Given the description of an element on the screen output the (x, y) to click on. 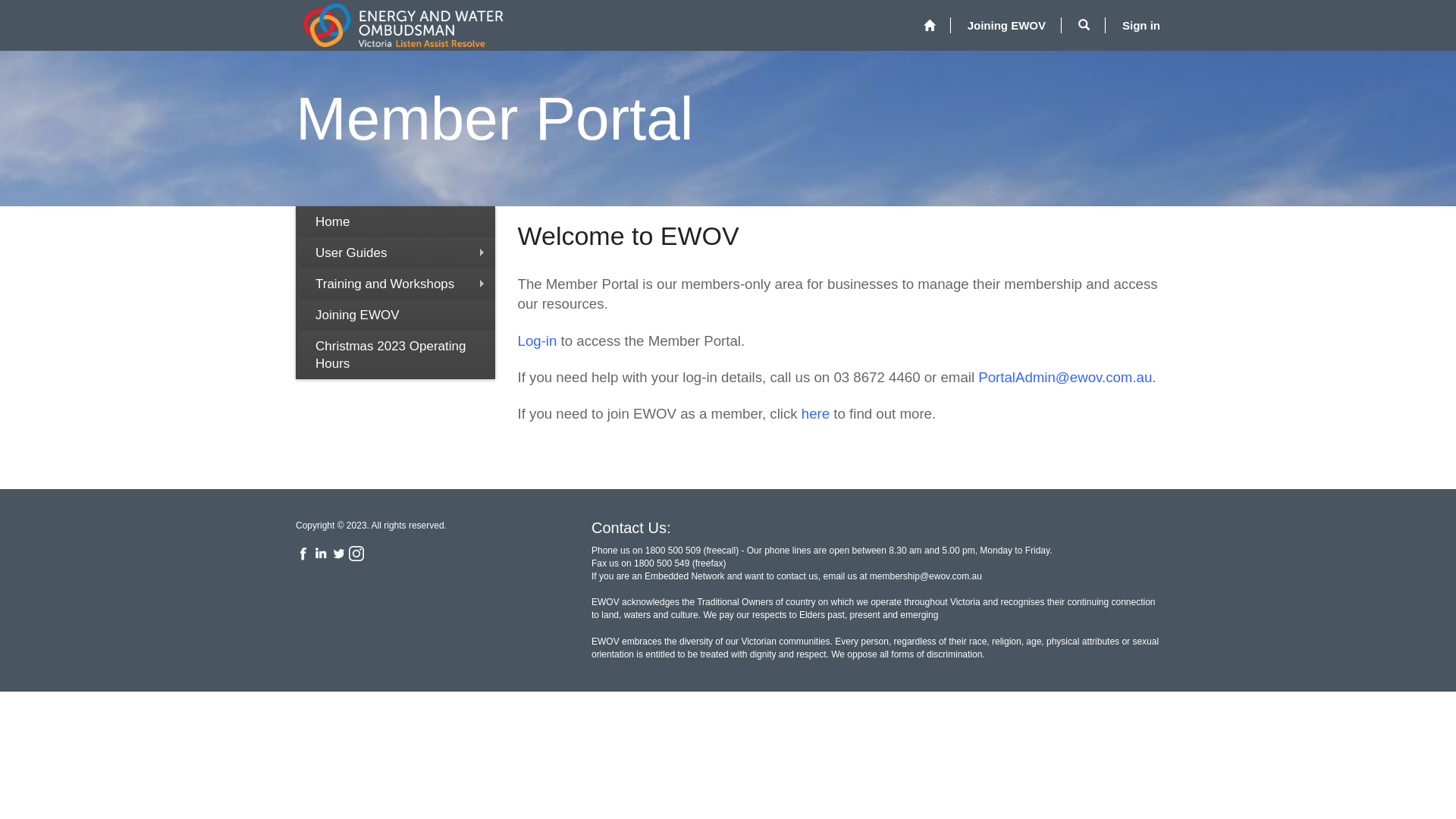
here Element type: text (815, 413)
Home Element type: hover (929, 25)
Search Element type: hover (1083, 24)
Training and Workshops Element type: text (396, 283)
Home Element type: text (396, 221)
Joining EWOV Element type: text (396, 313)
Twitter Element type: hover (338, 552)
membership@ewov.com.au Element type: text (925, 576)
Christmas 2023 Operating Hours Element type: text (396, 354)
Sign in Element type: text (1140, 24)
Instagram Element type: hover (356, 552)
Joining EWOV Element type: text (1006, 24)
PortalAdmin@ewov.com.au. Element type: text (1066, 377)
Facebook Element type: hover (302, 552)
Linkedin Element type: hover (320, 552)
User Guides Element type: text (396, 251)
Log-in Element type: text (536, 340)
